Given the description of an element on the screen output the (x, y) to click on. 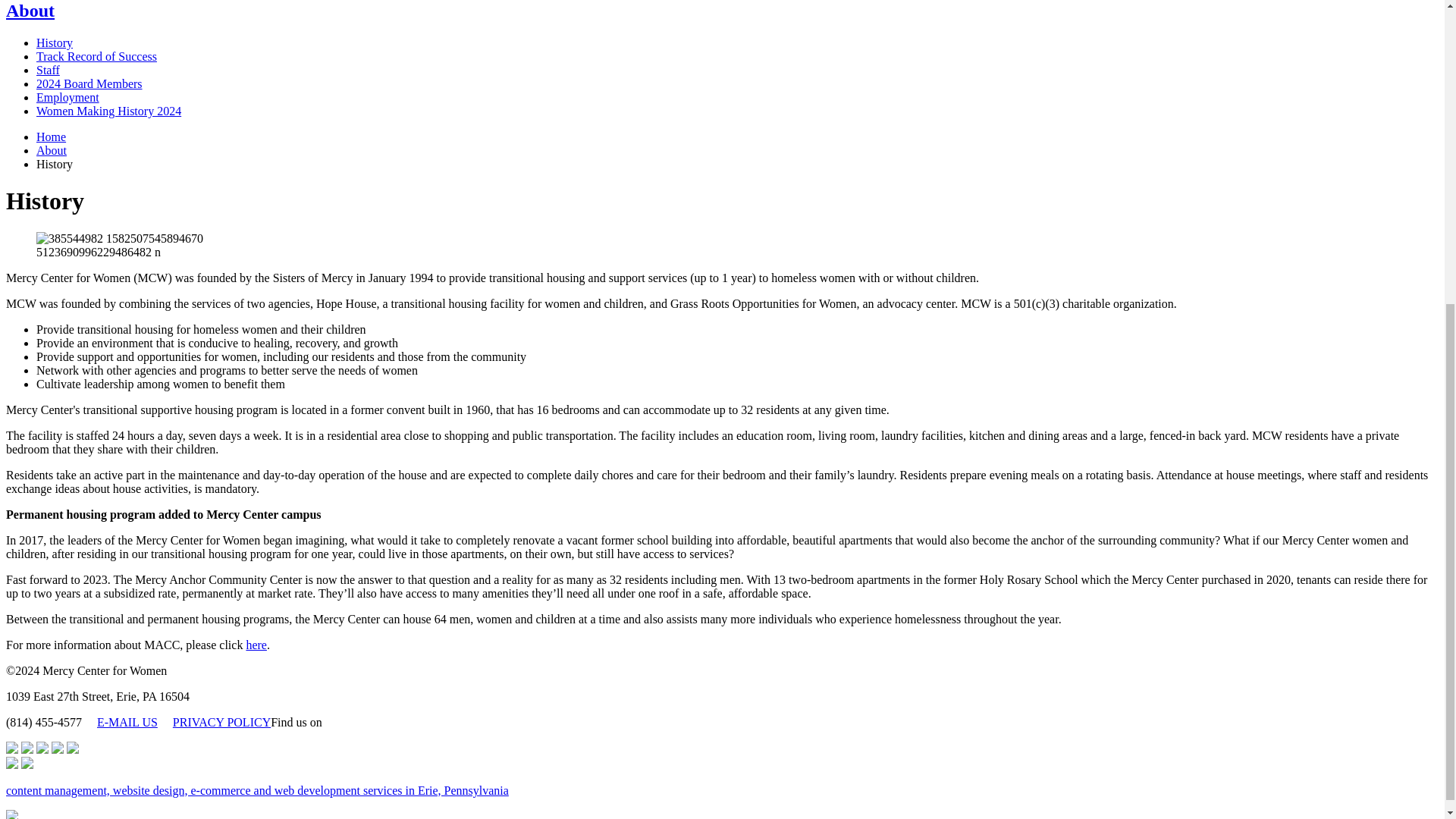
History (54, 42)
Track Record of Success (96, 56)
2024 Board Members (89, 83)
Employment (67, 97)
Staff (47, 69)
